Given the description of an element on the screen output the (x, y) to click on. 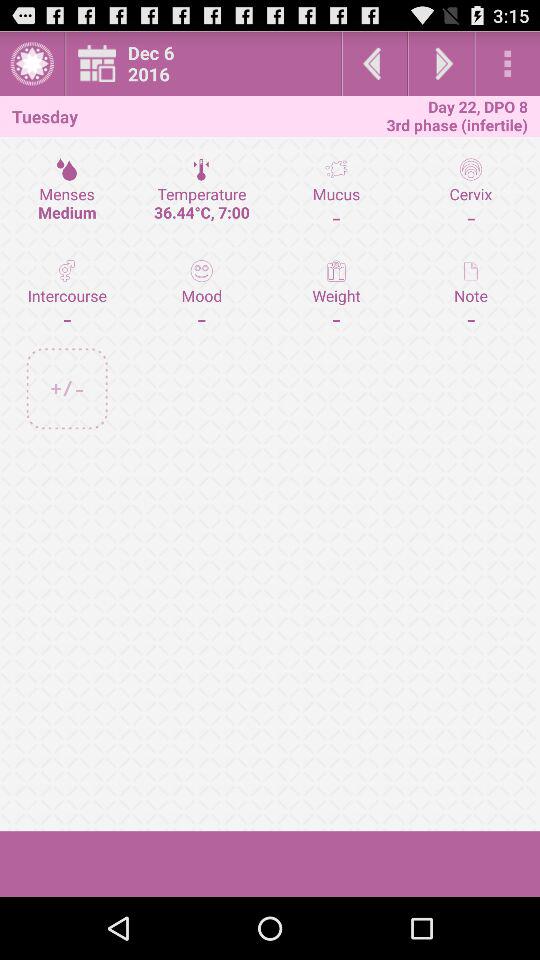
turn off the item below temperature 36 44 (336, 294)
